Given the description of an element on the screen output the (x, y) to click on. 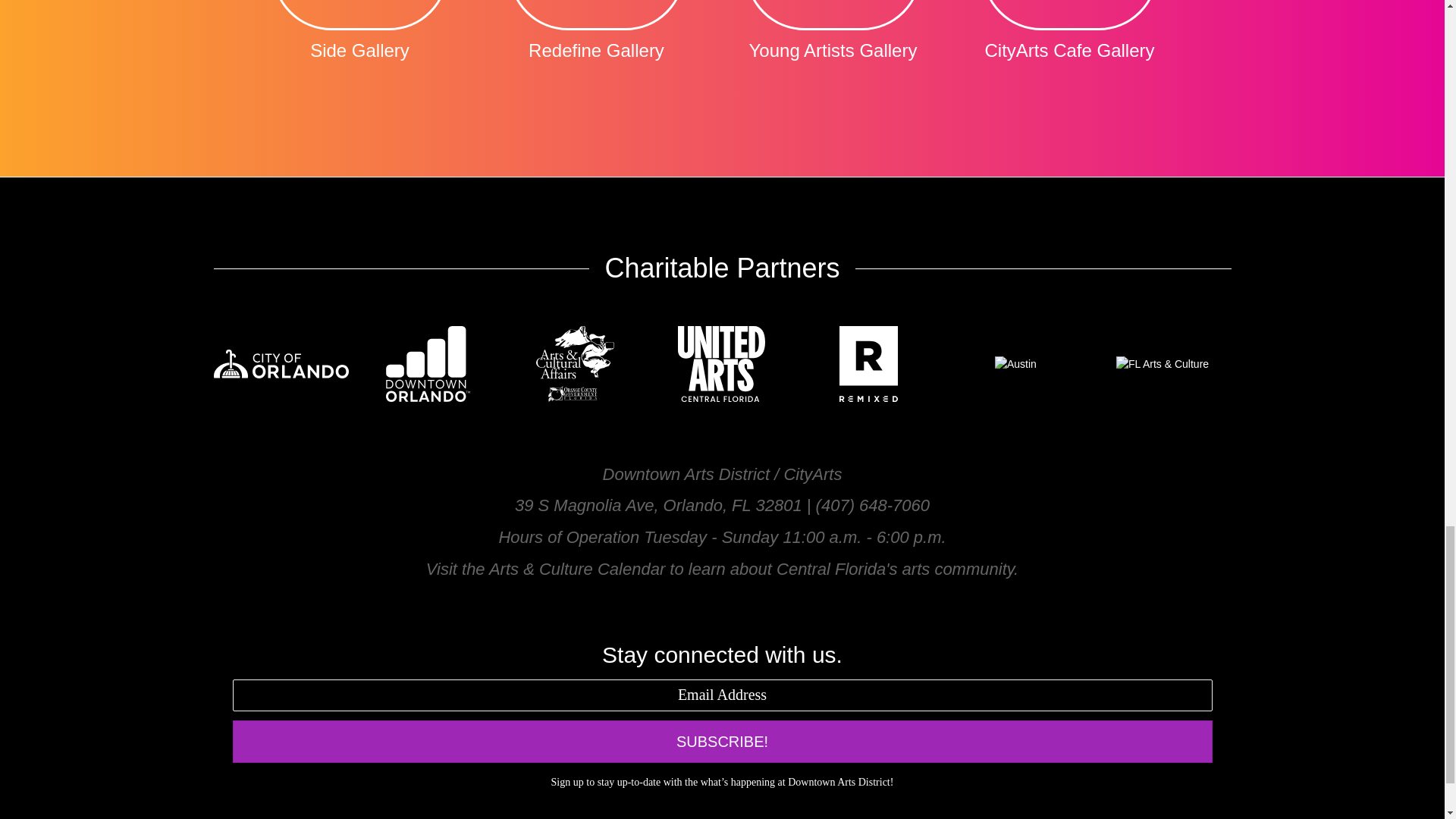
Side Gallery (359, 43)
Redefine Gallery (595, 43)
